Given the description of an element on the screen output the (x, y) to click on. 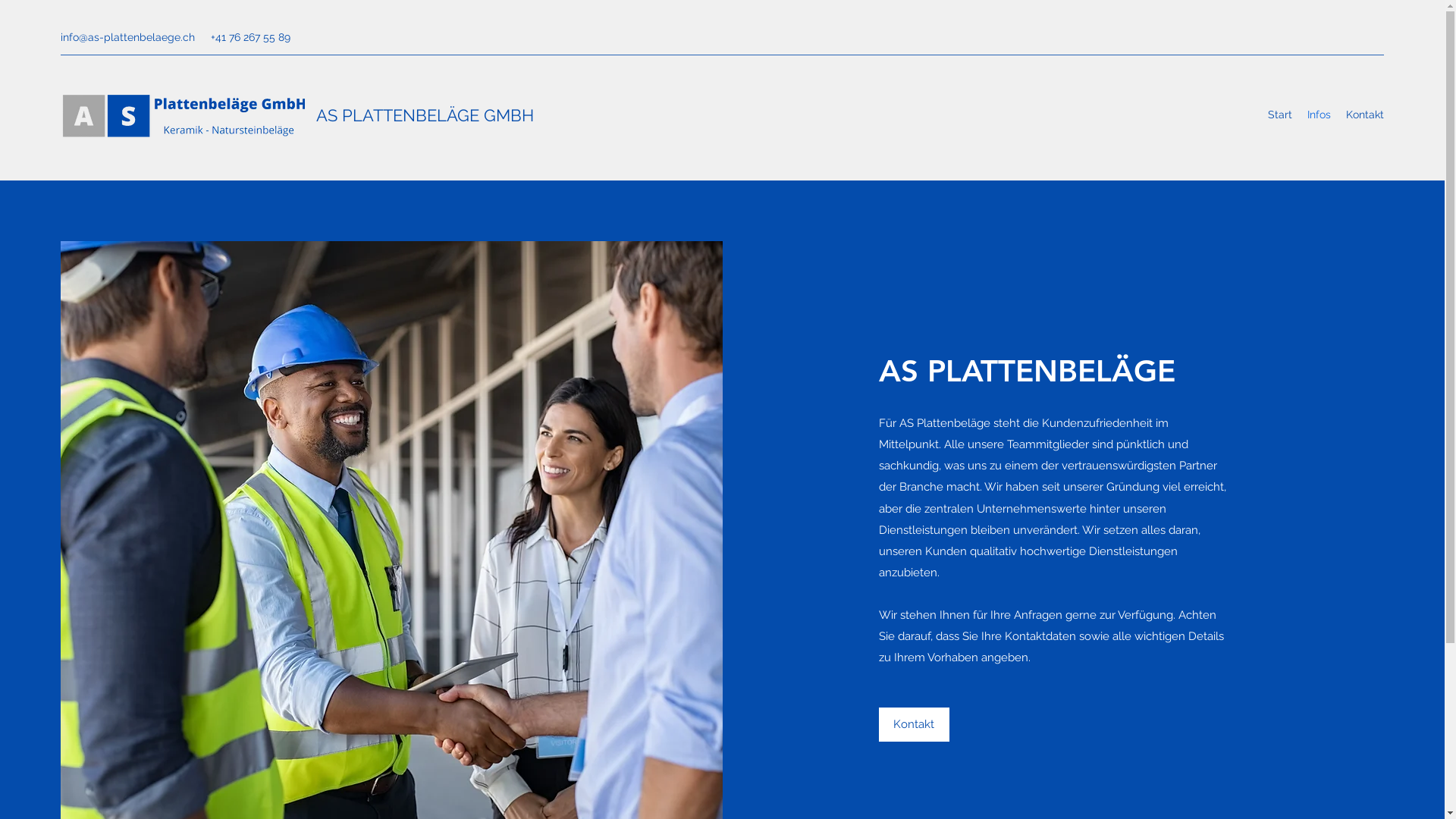
Start Element type: text (1279, 114)
Infos Element type: text (1318, 114)
info@as-plattenbelaege.ch Element type: text (127, 37)
Kontakt Element type: text (1364, 114)
Kontakt Element type: text (913, 724)
